Given the description of an element on the screen output the (x, y) to click on. 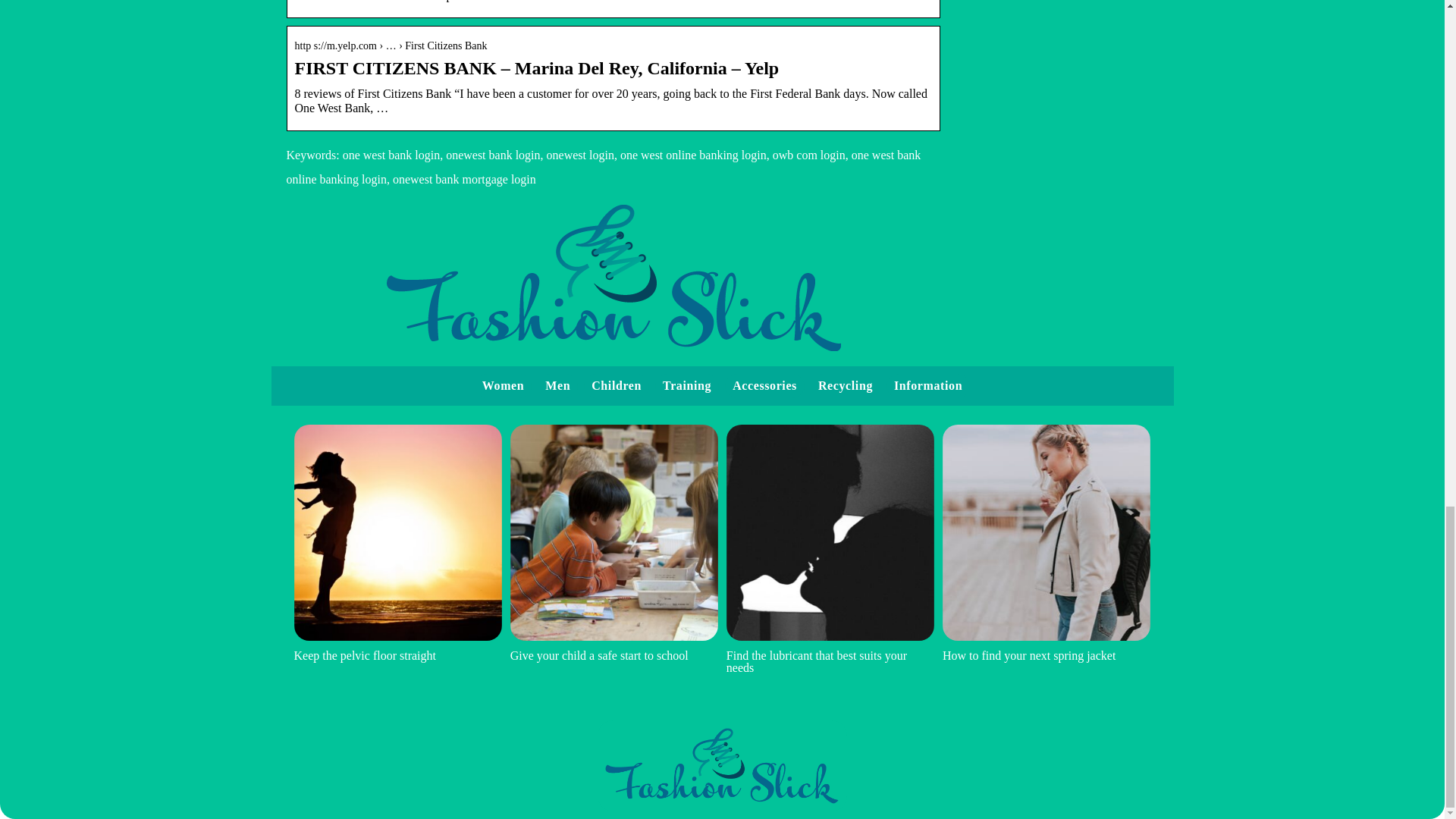
Recycling (845, 385)
Training (686, 385)
Men (557, 385)
Accessories (764, 385)
Women (502, 385)
Information (927, 385)
Children (616, 385)
